Given the description of an element on the screen output the (x, y) to click on. 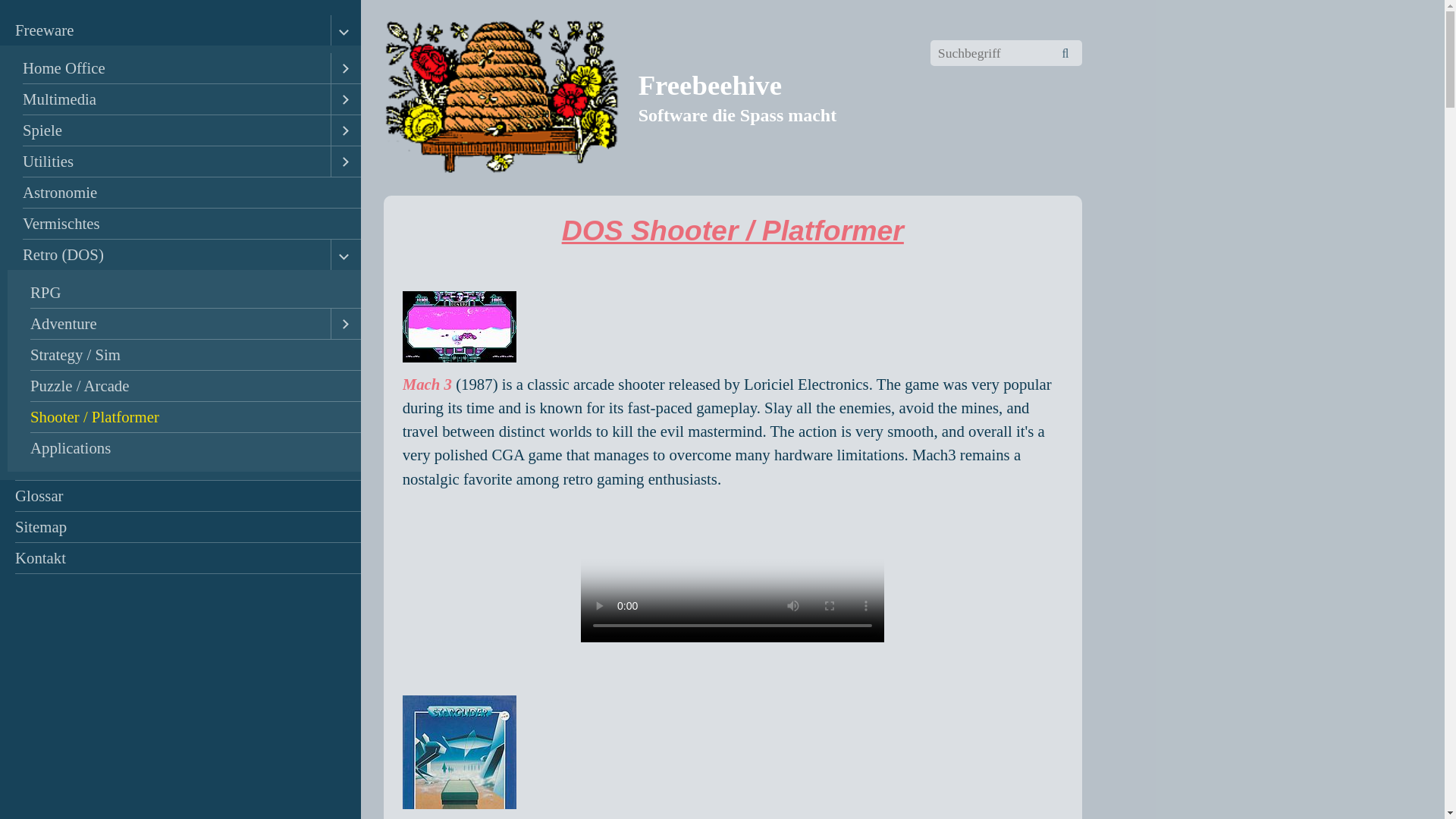
Vermischtes (184, 223)
Home Office (168, 68)
RPG (187, 292)
Utilities (168, 161)
Freeware (165, 30)
Astronomie (184, 192)
Adventure (172, 323)
Multimedia (168, 99)
Spiele (168, 130)
